Given the description of an element on the screen output the (x, y) to click on. 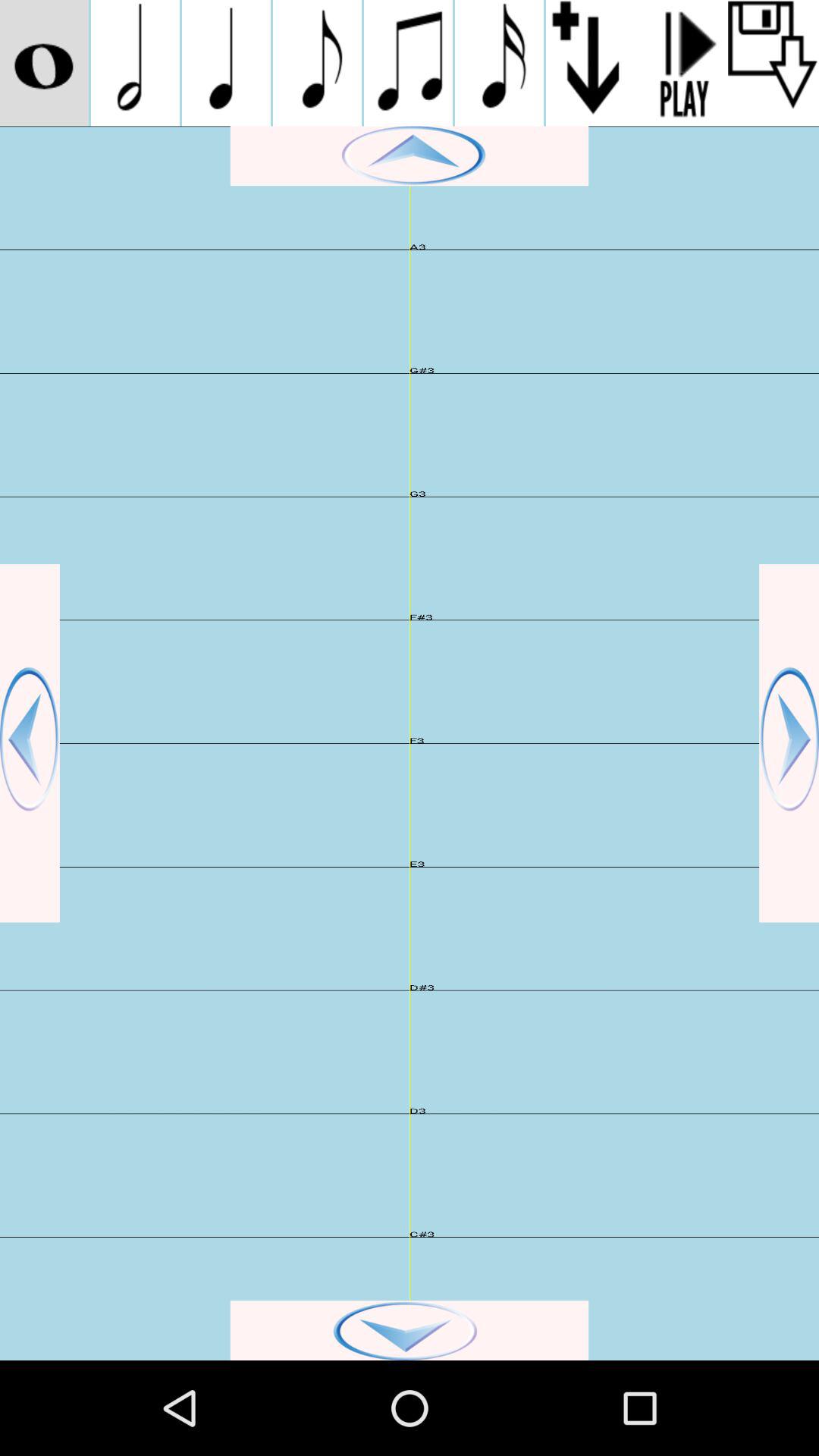
select music notes (499, 63)
